Given the description of an element on the screen output the (x, y) to click on. 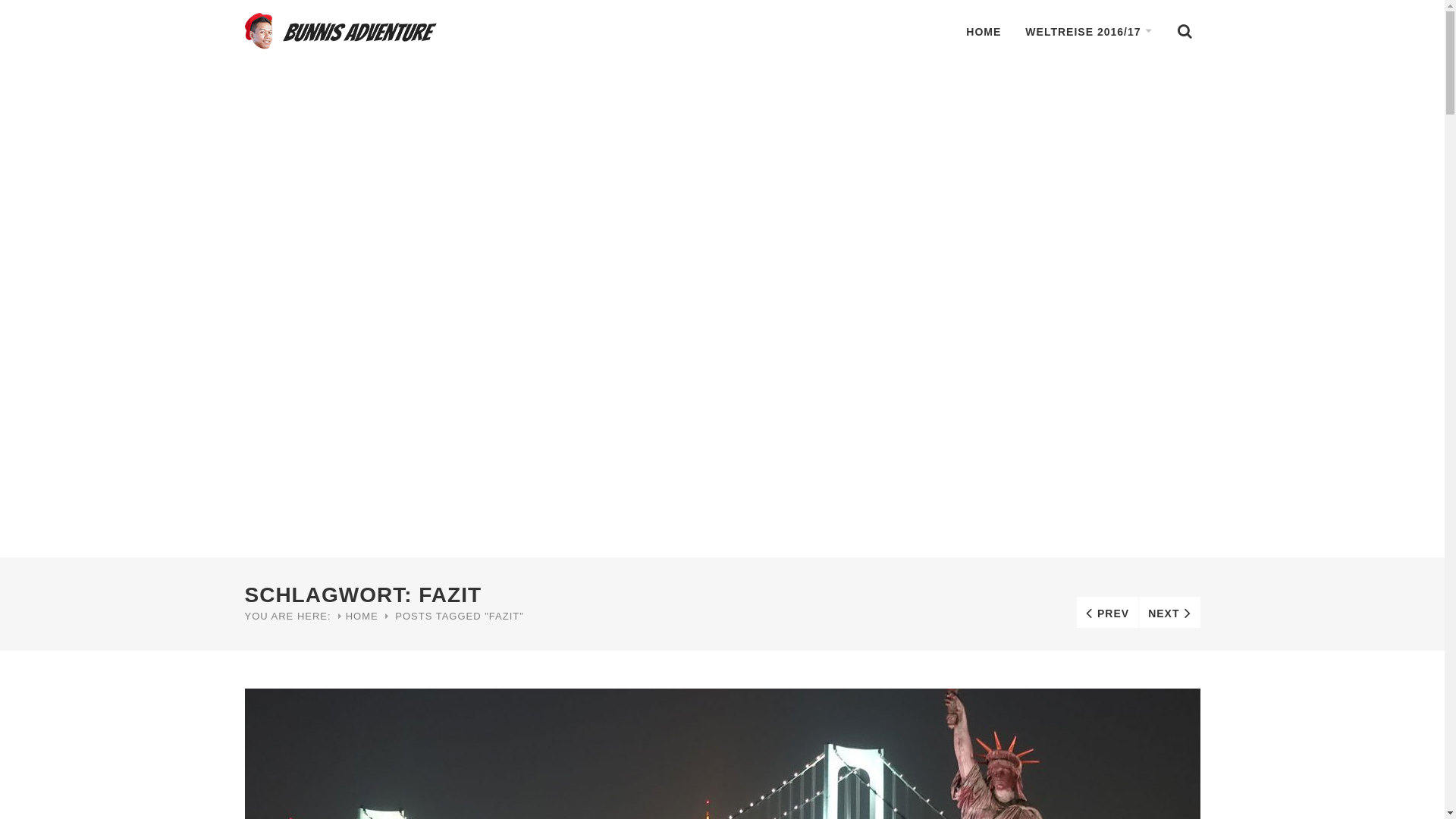
HOME Element type: text (983, 32)
PREV Element type: text (1107, 611)
NEXT Element type: text (1169, 611)
WELTREISE 2016/17 Element type: text (1088, 32)
HOME Element type: text (361, 615)
